Given the description of an element on the screen output the (x, y) to click on. 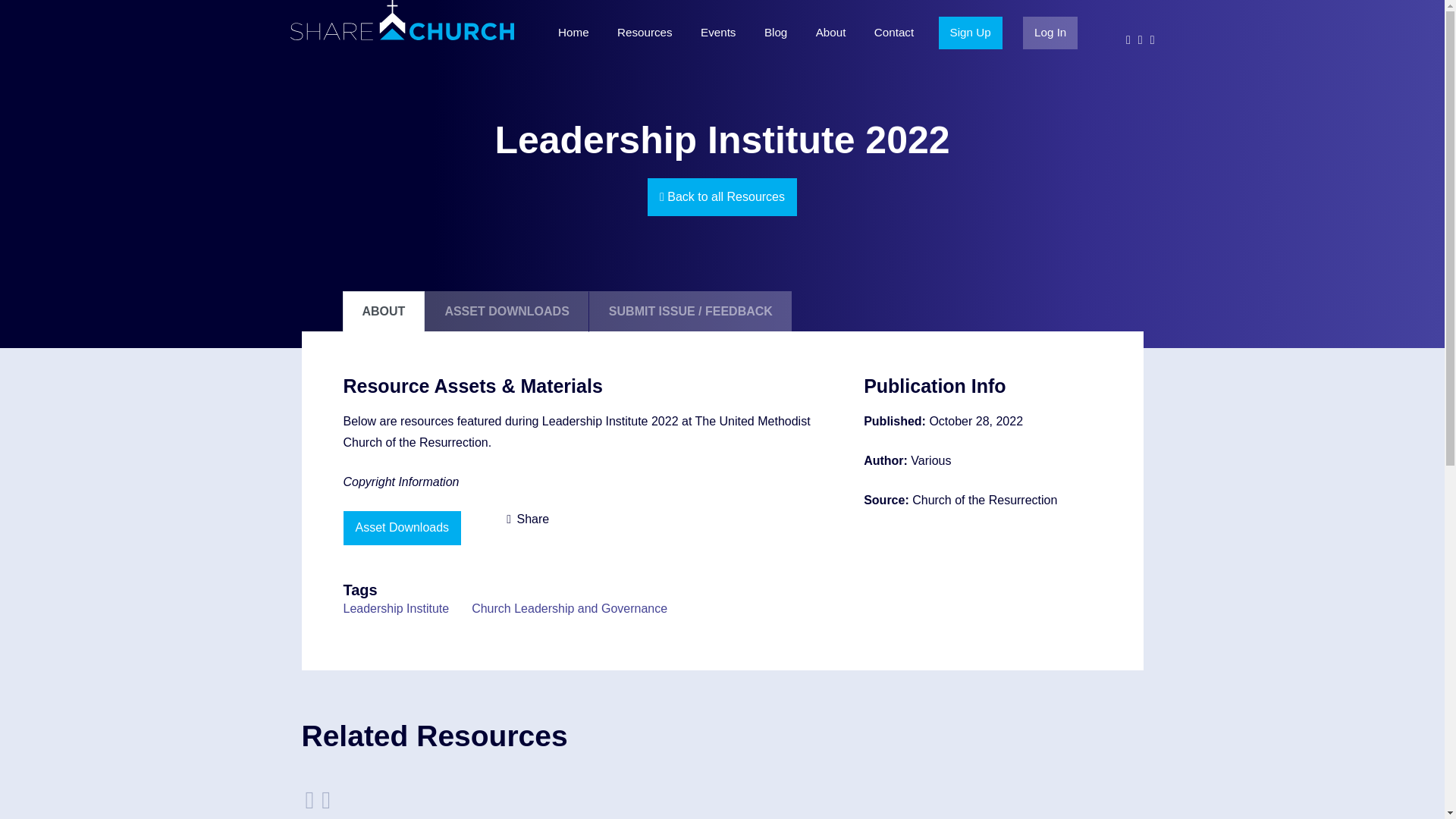
Church Leadership and Governance (568, 608)
ABOUT (383, 311)
Log In (1050, 32)
Events (718, 32)
Contact (893, 32)
Asset Downloads (401, 527)
About (831, 32)
Back to all Resources (721, 197)
Leadership Institute (395, 608)
Contact (893, 32)
Share (527, 518)
Log In (1050, 32)
Sign Up (970, 32)
Blog (775, 32)
Home (573, 32)
